Given the description of an element on the screen output the (x, y) to click on. 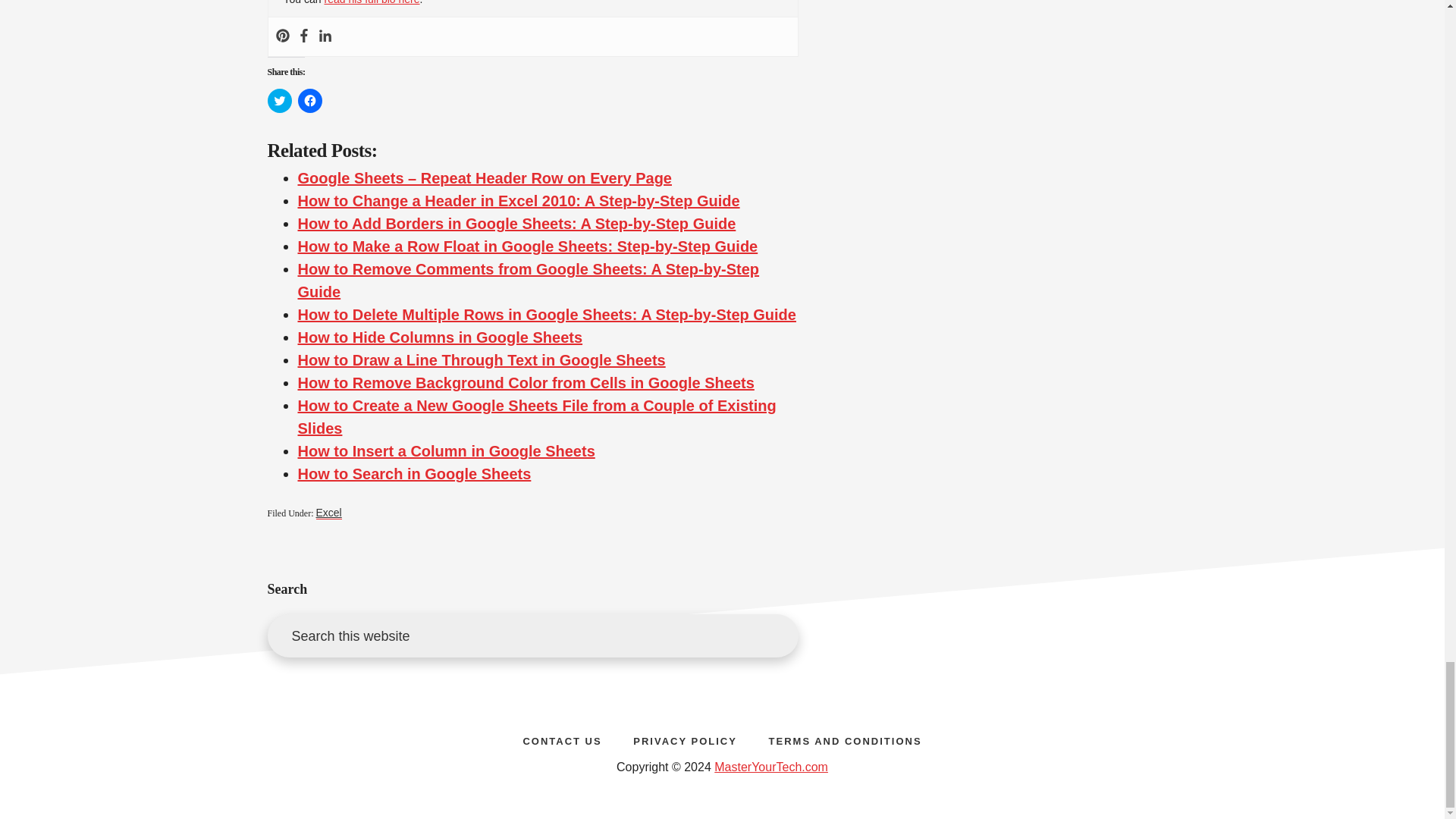
read his full bio here (371, 2)
How to Change a Header in Excel 2010: A Step-by-Step Guide (518, 200)
How to Hide Columns in Google Sheets (439, 337)
Excel (327, 512)
How to Add Borders in Google Sheets: A Step-by-Step Guide (516, 223)
How to Search in Google Sheets (414, 474)
How to Remove Background Color from Cells in Google Sheets (525, 382)
How to Draw a Line Through Text in Google Sheets (481, 360)
How to Make a Row Float in Google Sheets: Step-by-Step Guide (527, 246)
How to Insert a Column in Google Sheets (445, 451)
